Given the description of an element on the screen output the (x, y) to click on. 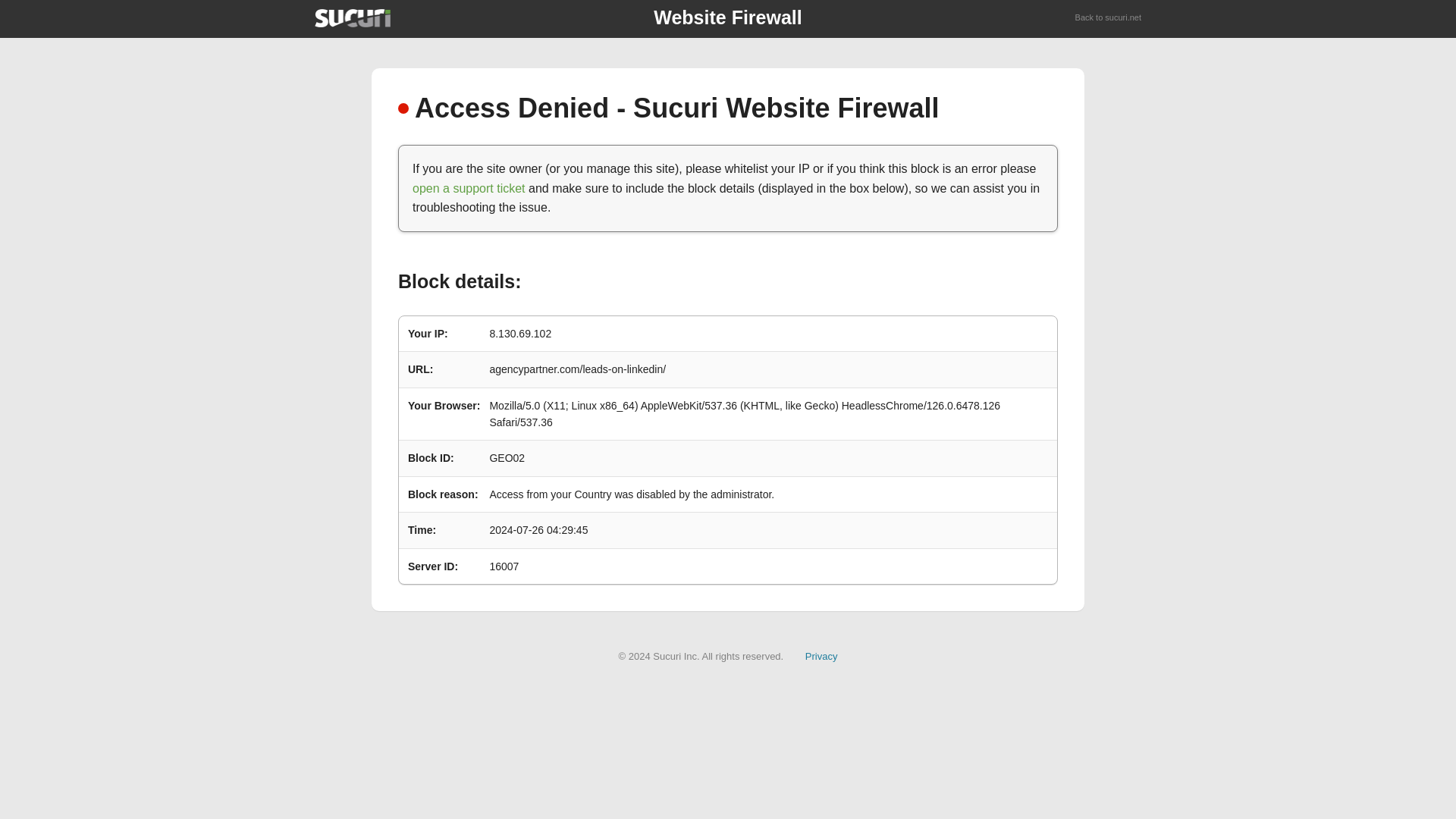
Privacy (821, 655)
open a support ticket (468, 187)
Back to sucuri.net (1108, 18)
